Given the description of an element on the screen output the (x, y) to click on. 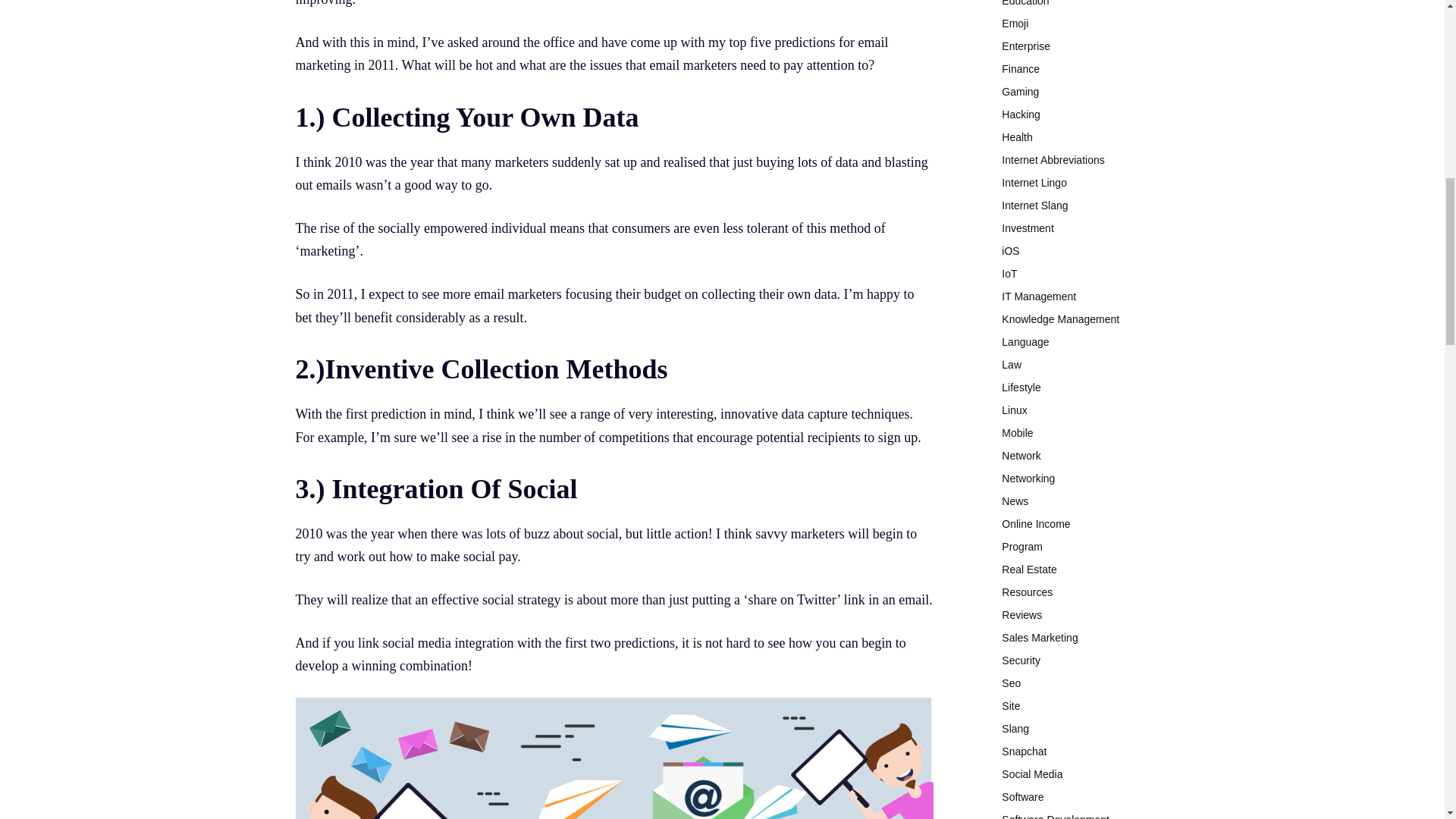
5 Email Marketing Predictions For 2011 1 (614, 758)
